Given the description of an element on the screen output the (x, y) to click on. 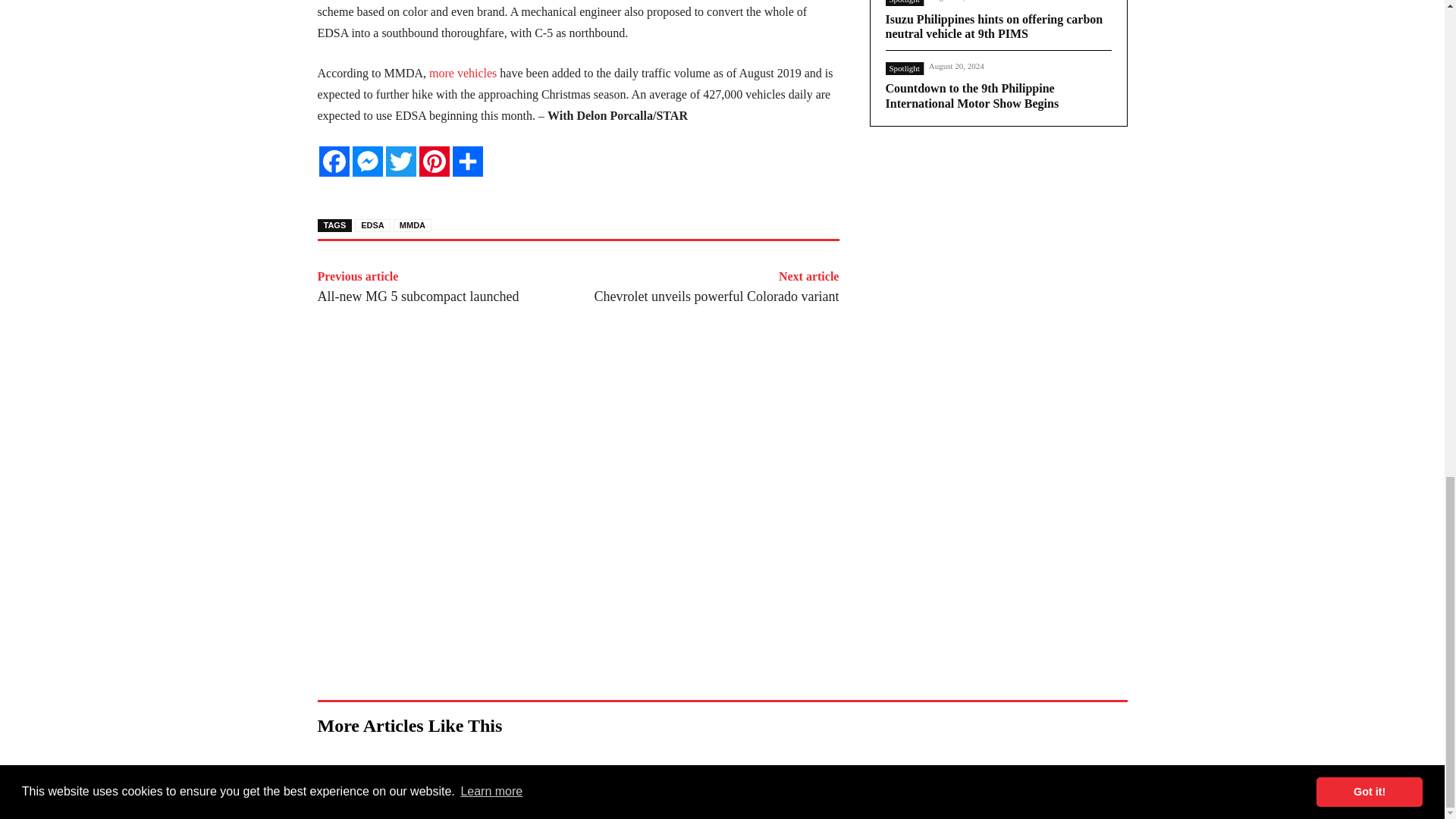
EDSA (372, 225)
more vehicles (462, 72)
Vuukle Comments Widget (577, 578)
MMDA (411, 225)
Chevrolet unveils powerful Colorado variant (717, 296)
All-new MG 5 subcompact launched (417, 296)
Vuukle Emotes Widget (544, 390)
